Given the description of an element on the screen output the (x, y) to click on. 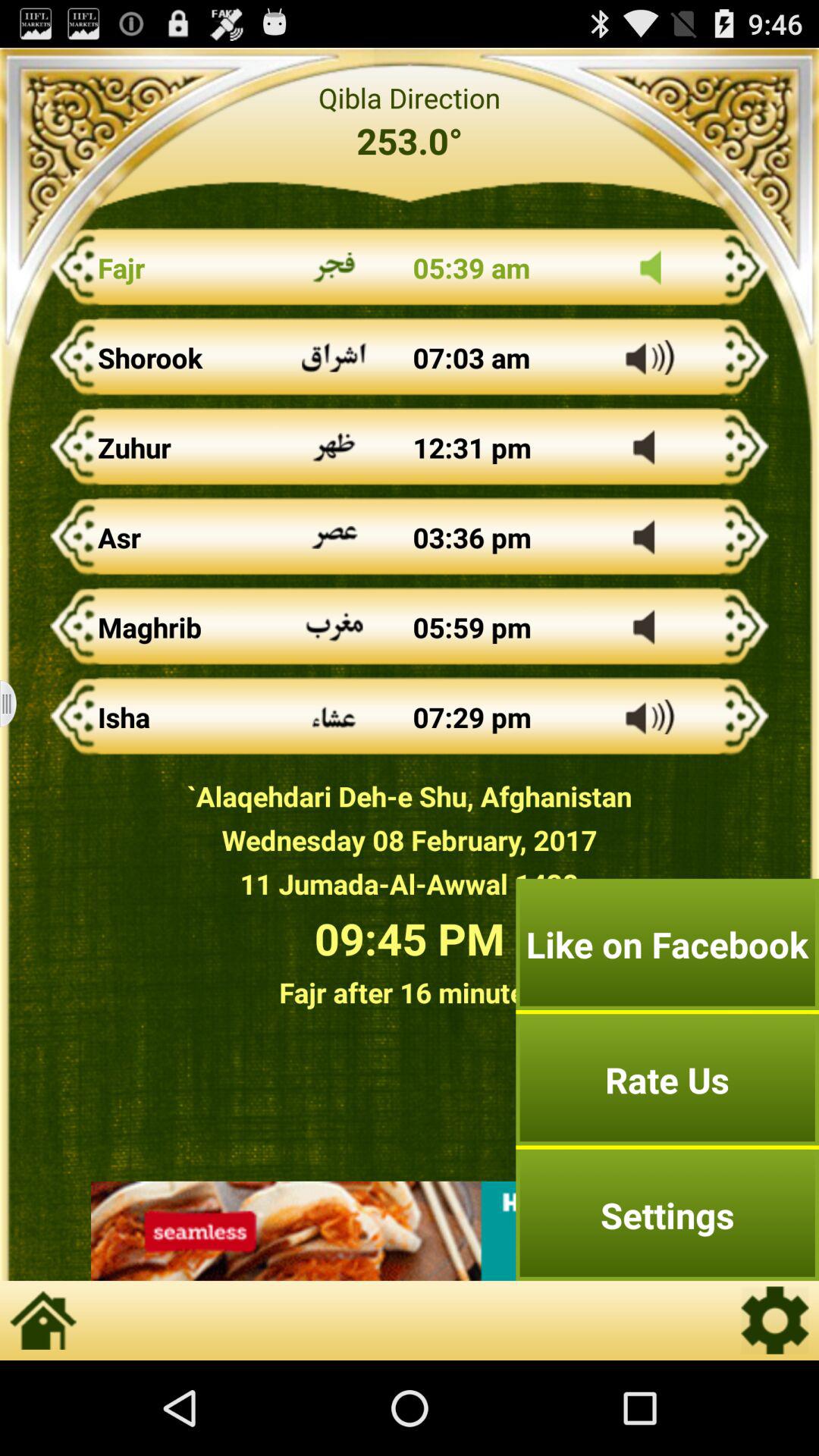
view side menu (18, 703)
